Given the description of an element on the screen output the (x, y) to click on. 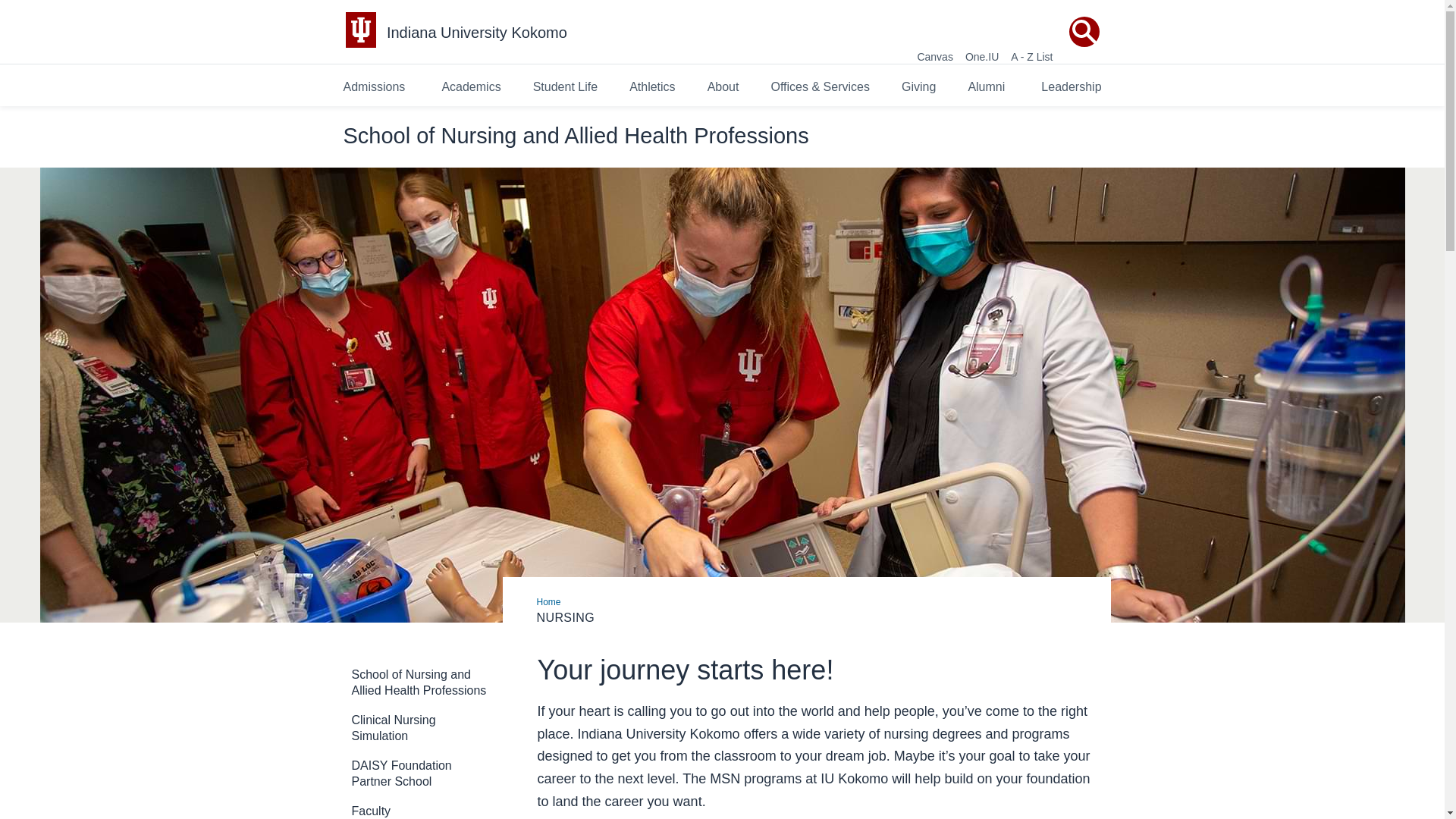
Indiana University Kokomo (477, 32)
Indiana University Kokomo (477, 32)
